Given the description of an element on the screen output the (x, y) to click on. 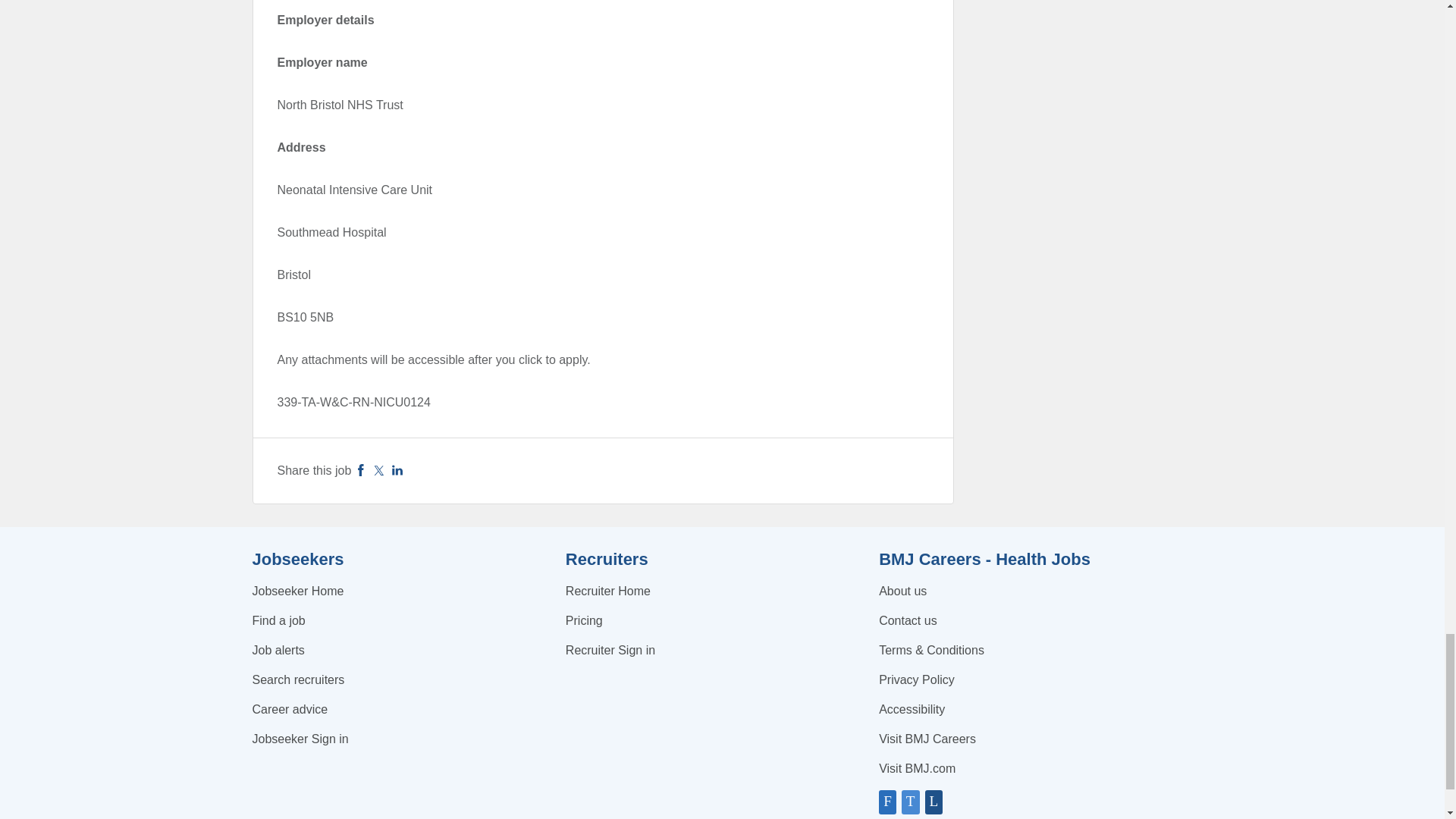
Twitter (378, 470)
Facebook (360, 470)
LinkedIn (397, 470)
